Given the description of an element on the screen output the (x, y) to click on. 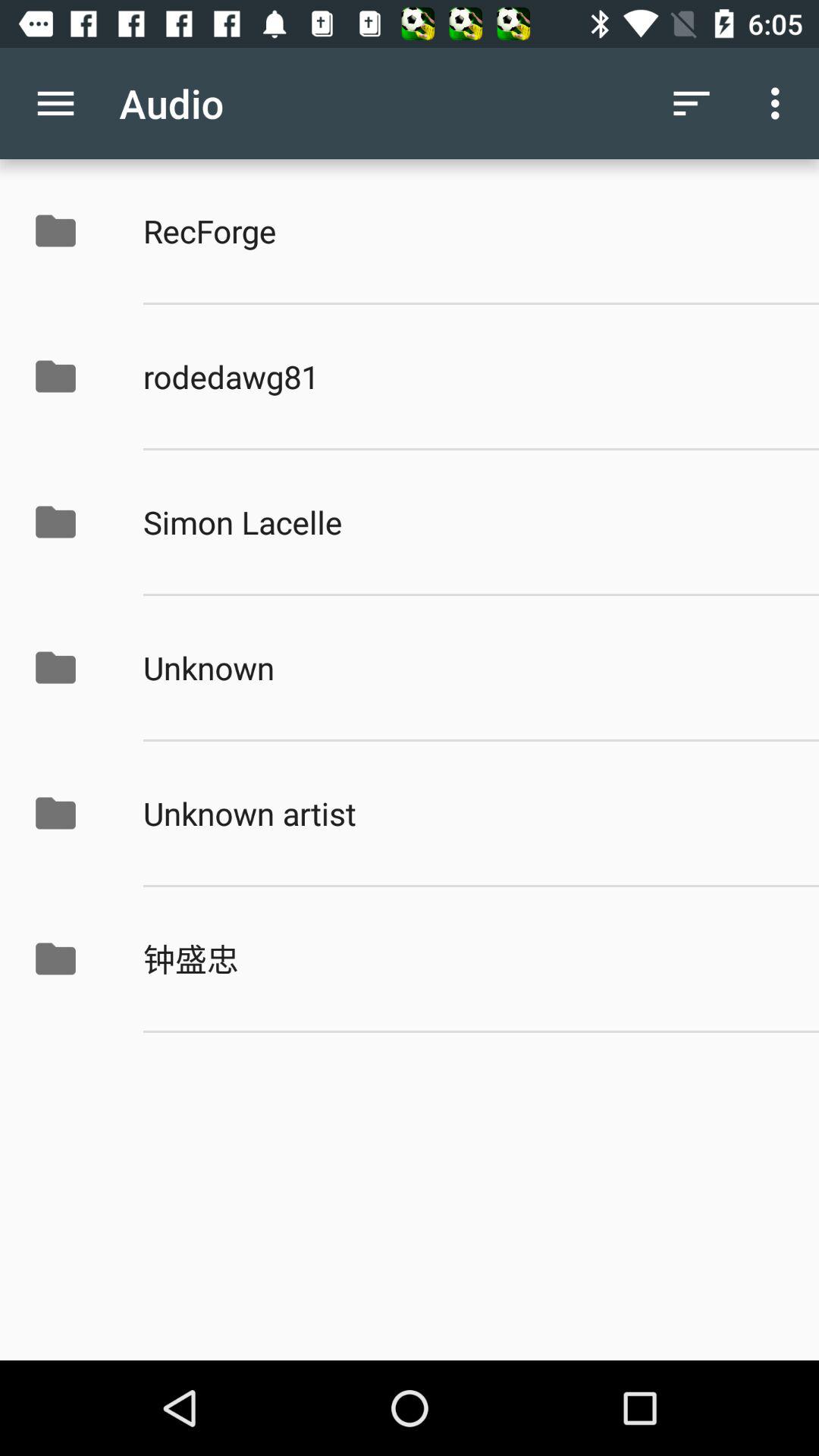
tap icon below the rodedawg81 icon (465, 521)
